Given the description of an element on the screen output the (x, y) to click on. 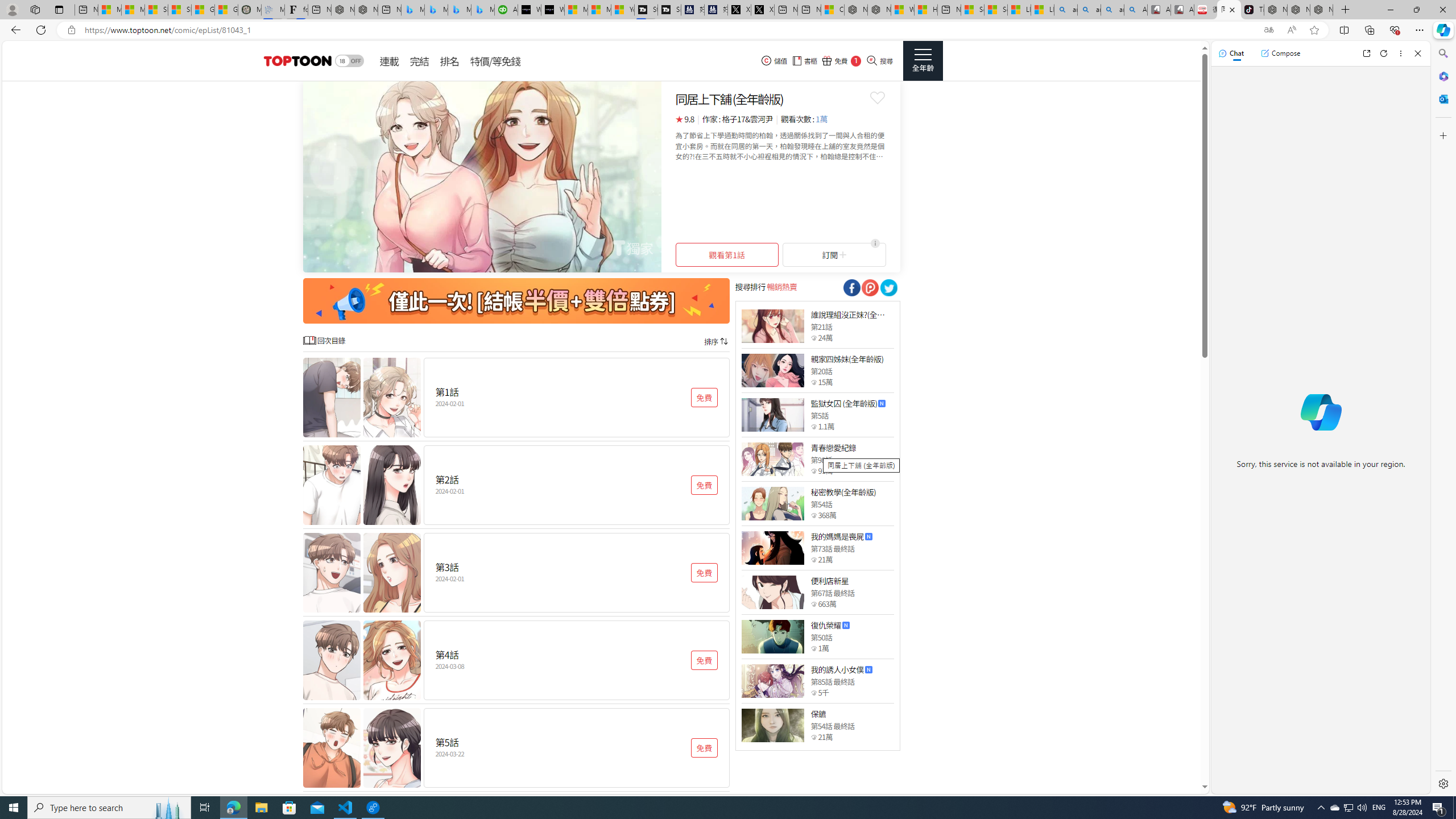
Class: swiper-slide (481, 176)
Class: socialShare (887, 287)
